Given the description of an element on the screen output the (x, y) to click on. 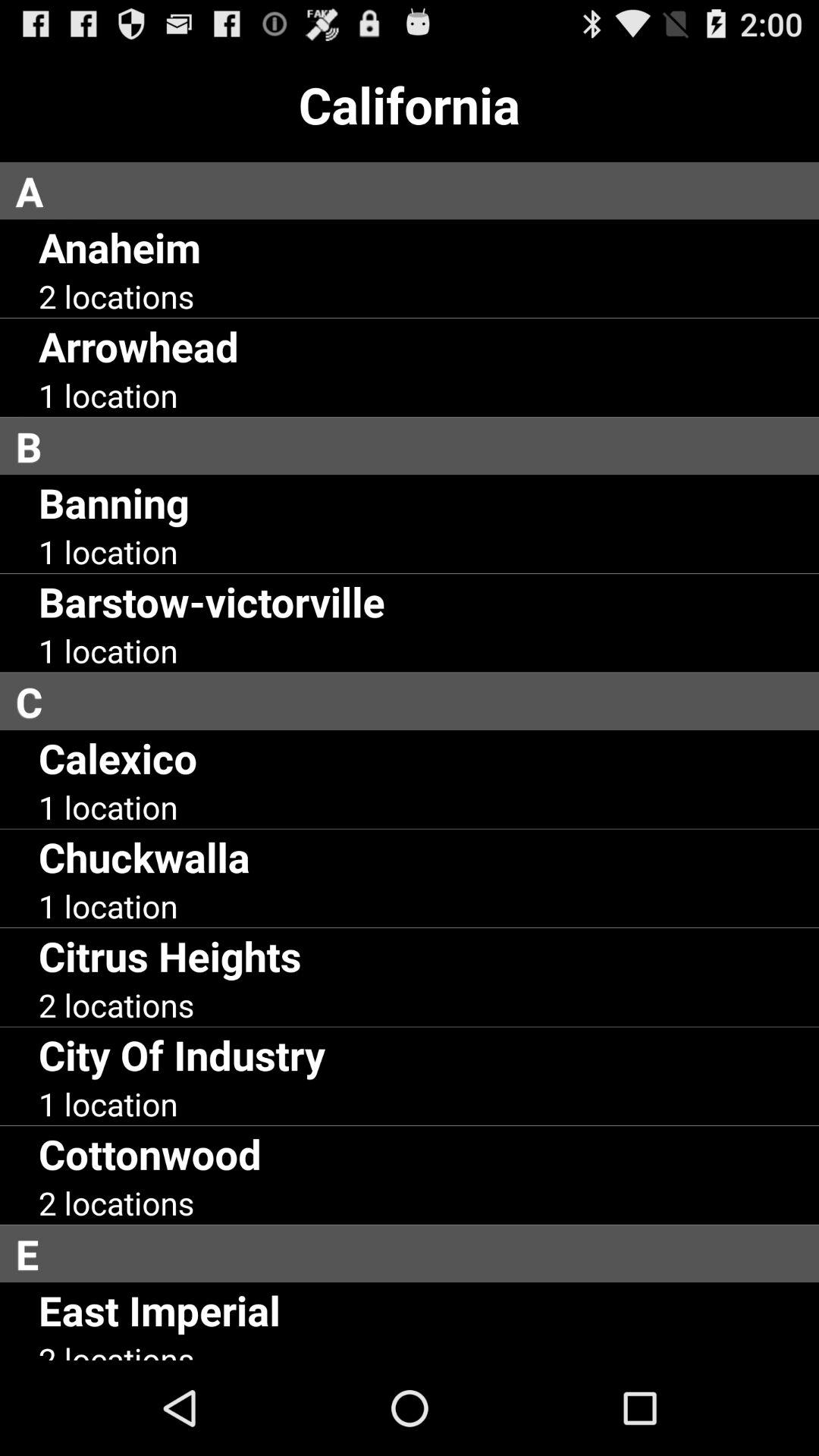
launch icon above the 1 location (144, 856)
